Given the description of an element on the screen output the (x, y) to click on. 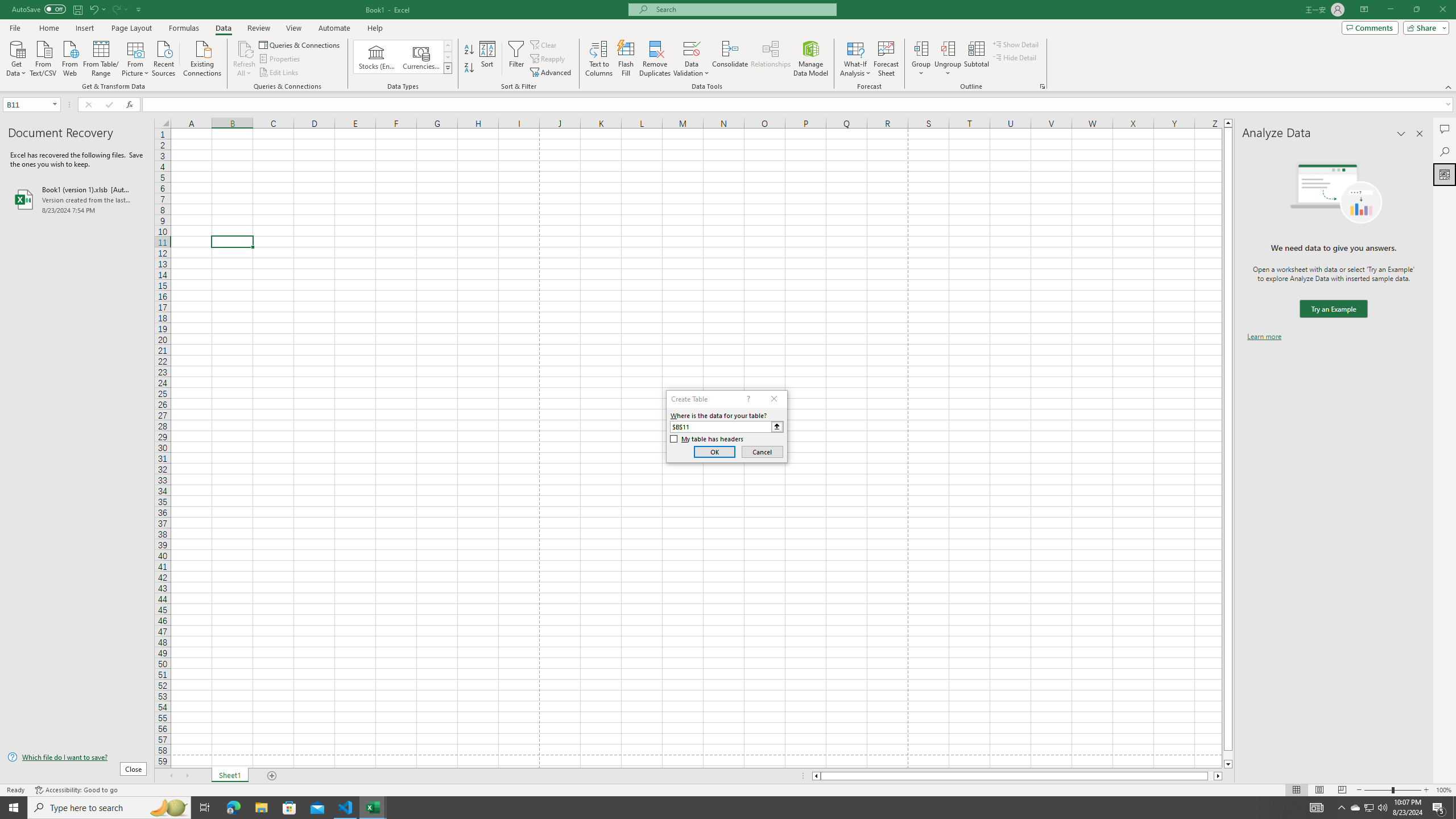
Formula Bar (799, 104)
Sort Z to A (469, 67)
Flash Fill (625, 58)
Show Detail (1016, 44)
Edit Links (279, 72)
Data Types (448, 67)
Properties (280, 58)
Consolidate... (729, 58)
